Given the description of an element on the screen output the (x, y) to click on. 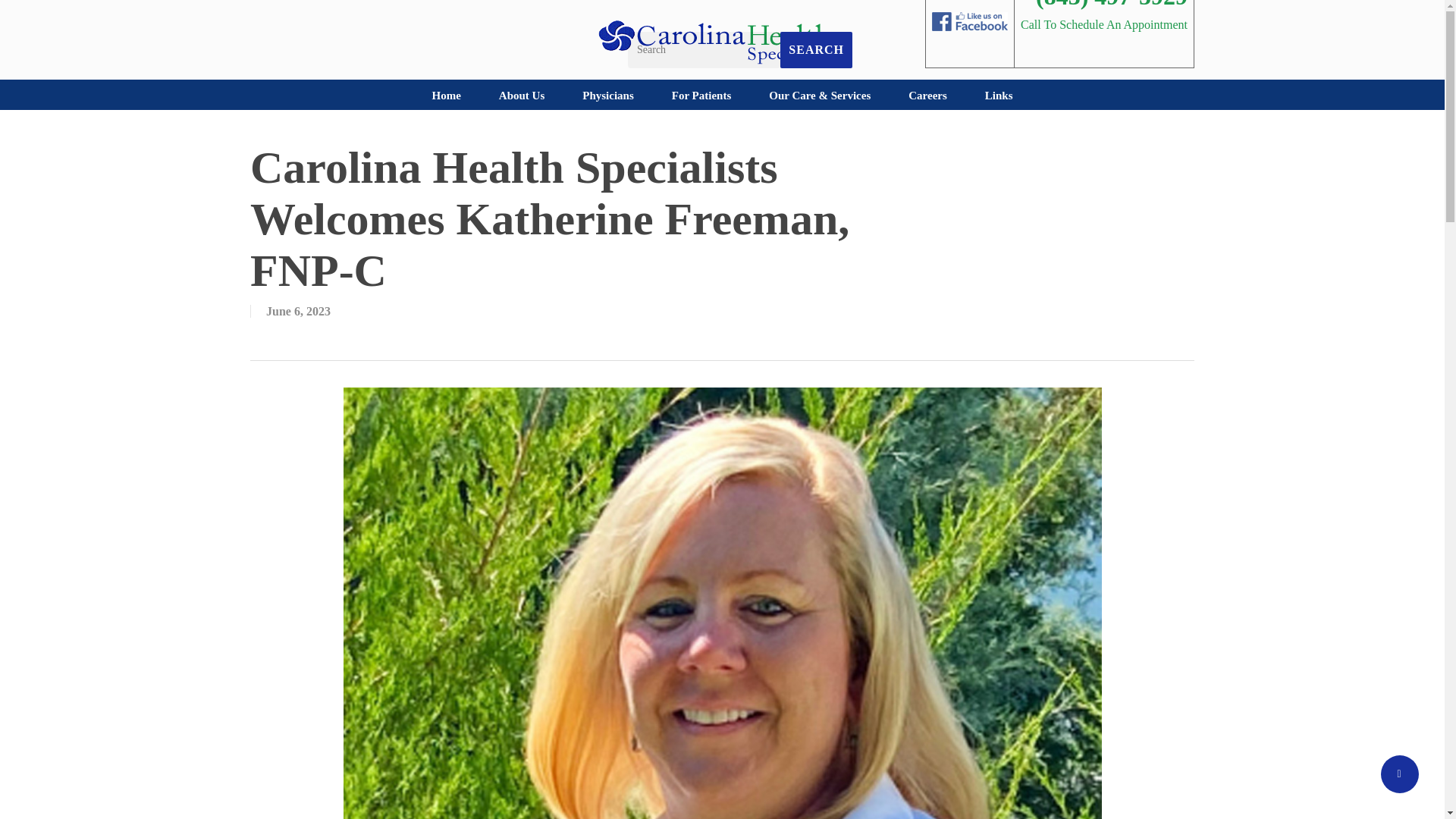
For Patients (700, 95)
SEARCH (815, 49)
About Us (521, 95)
Physicians (607, 95)
Links (999, 95)
Home (445, 95)
Careers (927, 95)
